Given the description of an element on the screen output the (x, y) to click on. 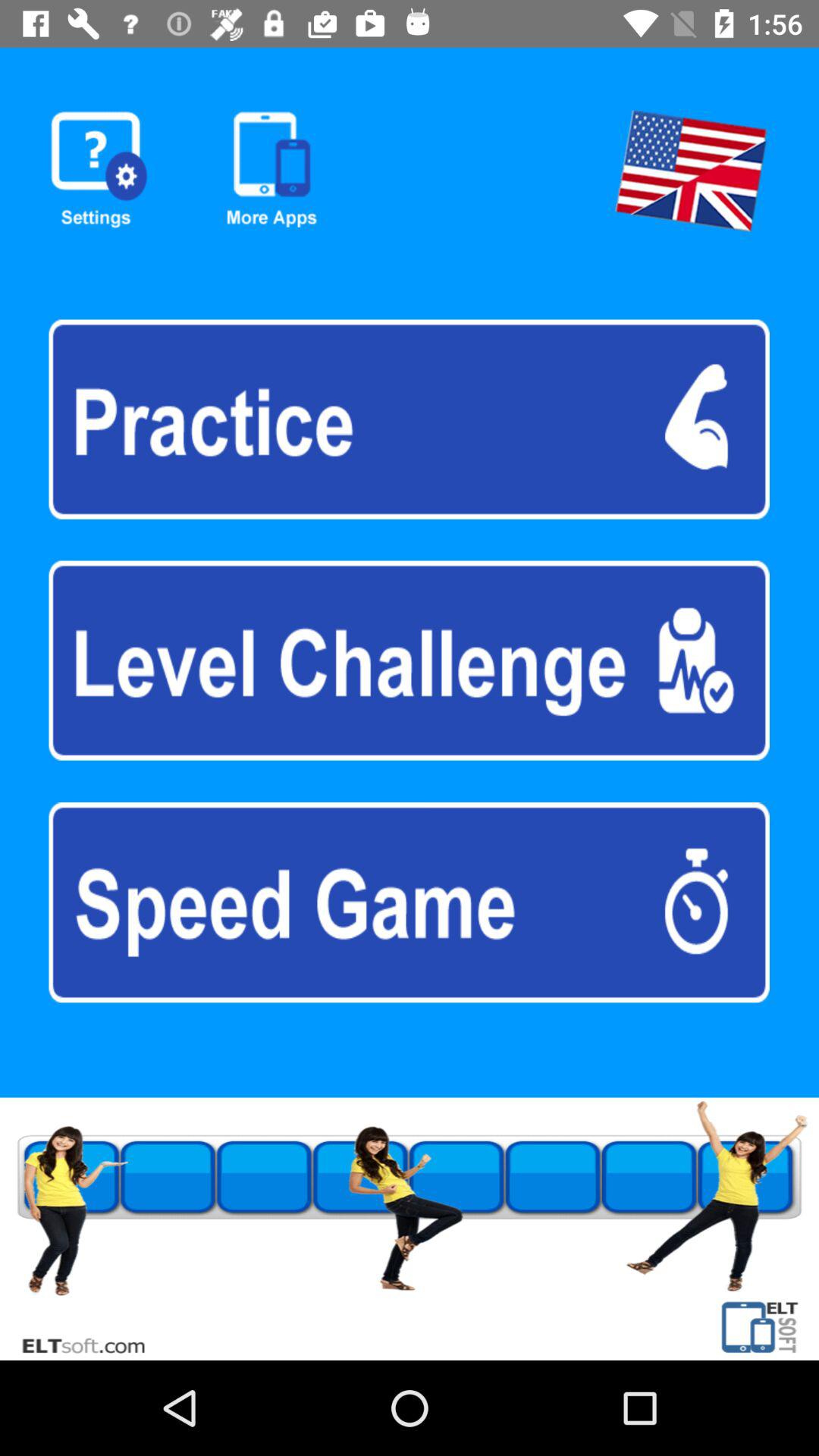
open settings (98, 170)
